Given the description of an element on the screen output the (x, y) to click on. 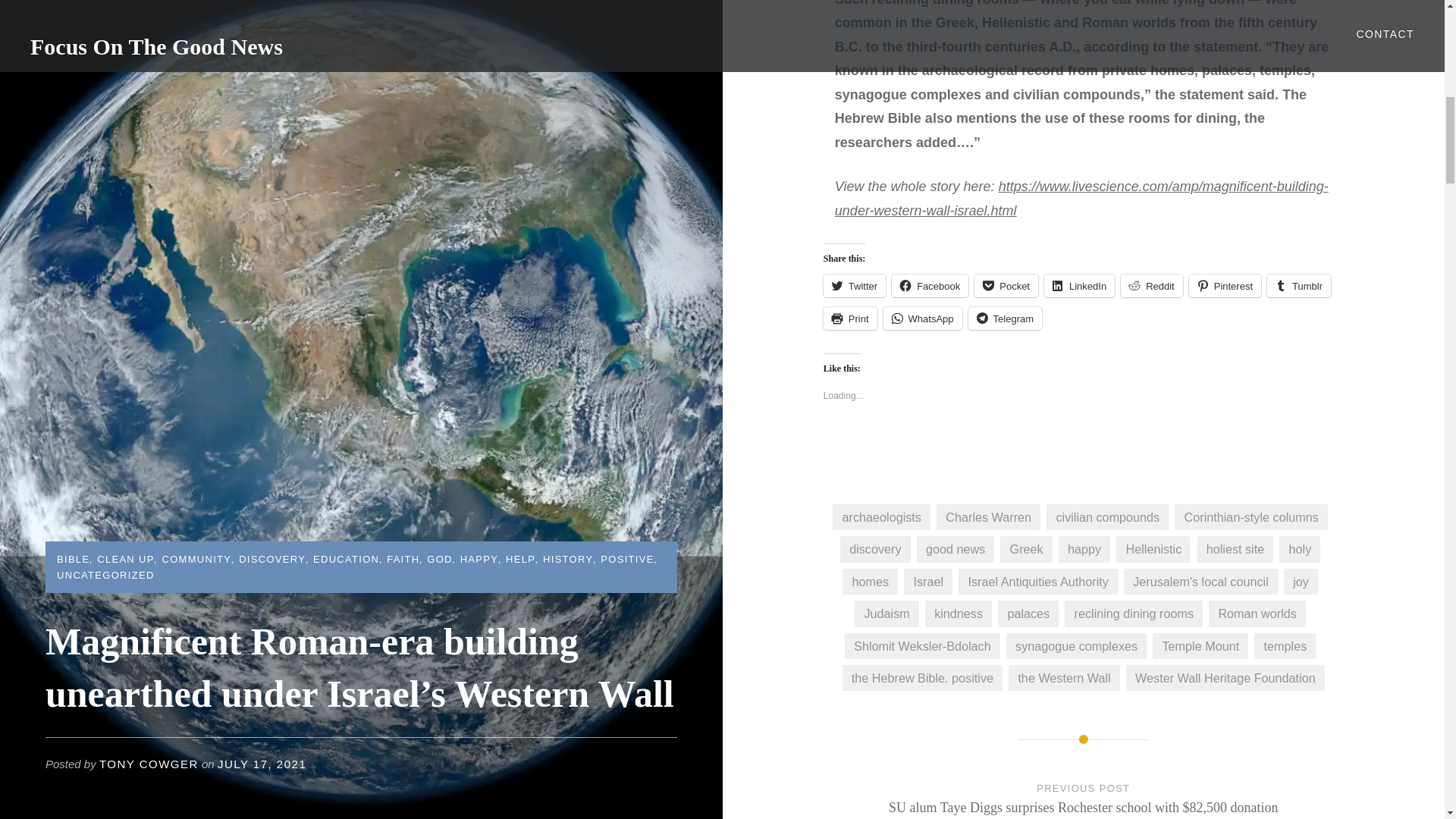
Telegram (1005, 318)
Click to share on Reddit (1151, 285)
Click to print (850, 318)
Like or Reblog (1083, 445)
Reddit (1151, 285)
Click to share on WhatsApp (922, 318)
Click to share on Twitter (854, 285)
Twitter (854, 285)
WhatsApp (922, 318)
Corinthian-style columns (1250, 516)
Pinterest (1224, 285)
civilian compounds (1107, 516)
archaeologists (881, 516)
Click to share on LinkedIn (1079, 285)
Charles Warren (988, 516)
